Given the description of an element on the screen output the (x, y) to click on. 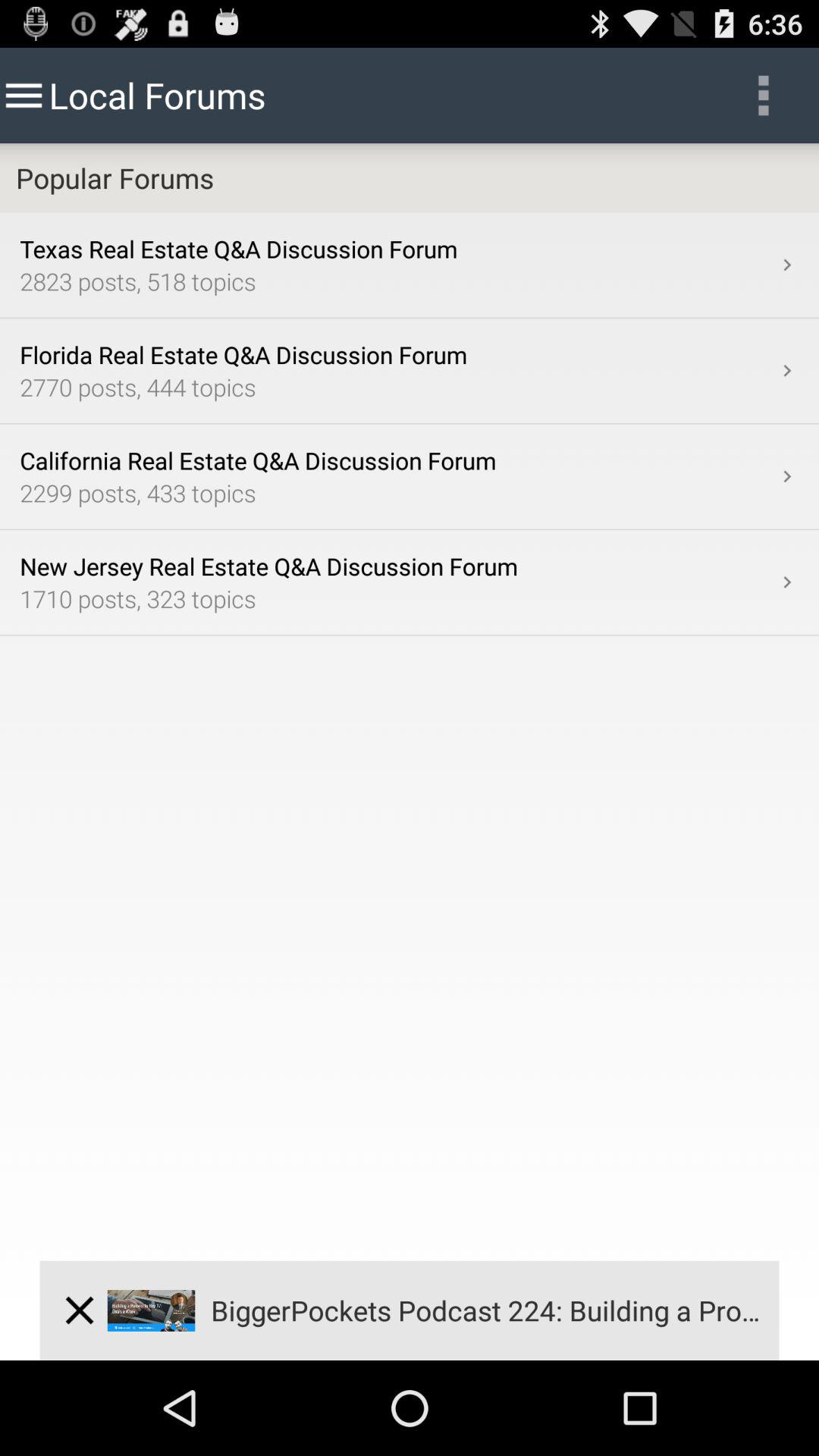
click app below the 2299 posts 433 item (397, 565)
